Given the description of an element on the screen output the (x, y) to click on. 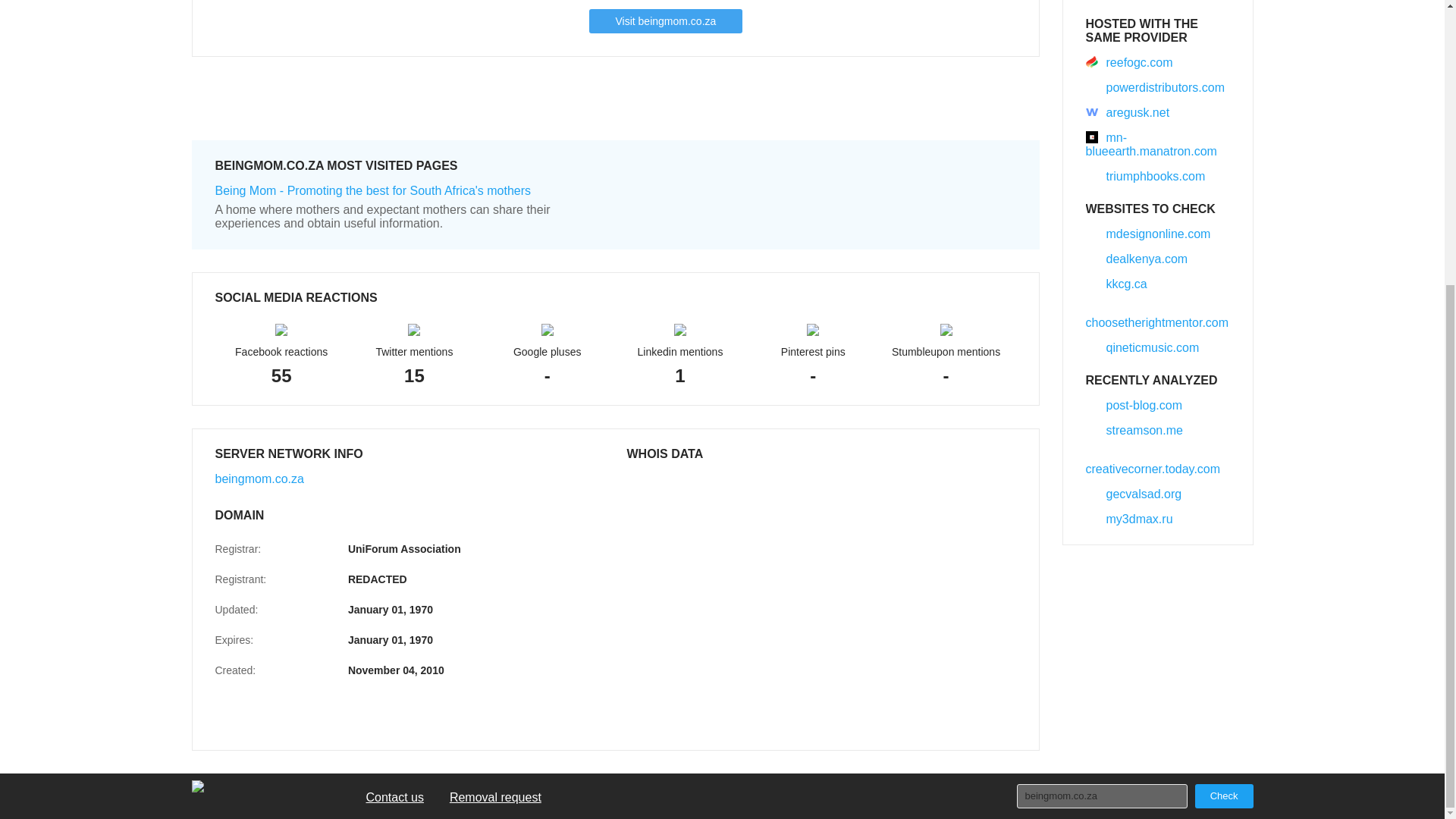
aregusk.net (1128, 112)
reefogc.com (1129, 62)
Visit beingmom.co.za (665, 21)
beingmom.co.za (1101, 795)
beingmom.co.za (1101, 795)
streamson.me (1134, 430)
my3dmax.ru (1129, 518)
mn-blueearth.manatron.com (1151, 144)
gecvalsad.org (1134, 493)
Contact us (394, 797)
triumphbooks.com (1145, 175)
post-blog.com (1134, 404)
qineticmusic.com (1142, 347)
choosetherightmentor.com (1157, 315)
creativecorner.today.com (1153, 461)
